Given the description of an element on the screen output the (x, y) to click on. 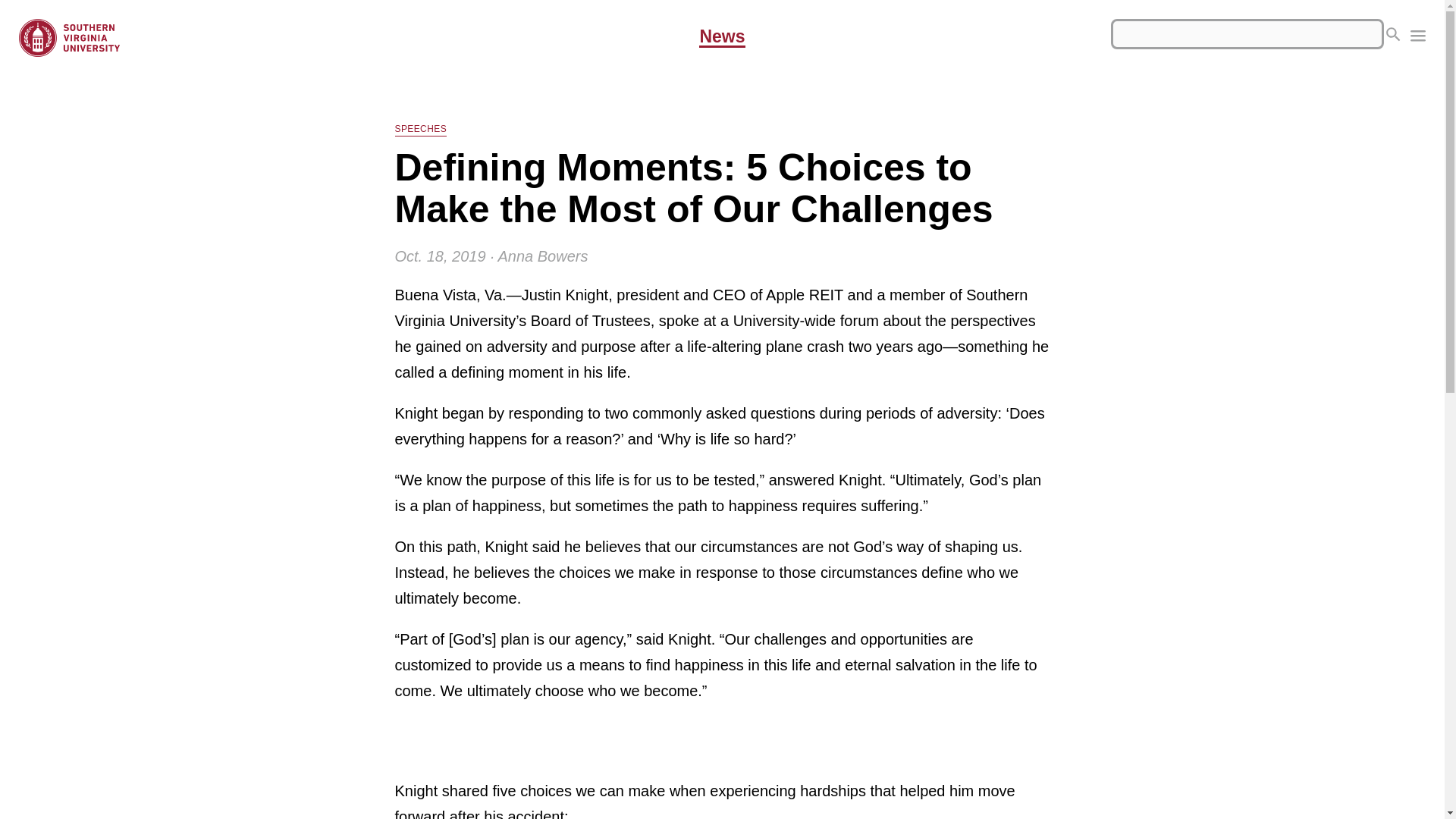
News (721, 37)
